Given the description of an element on the screen output the (x, y) to click on. 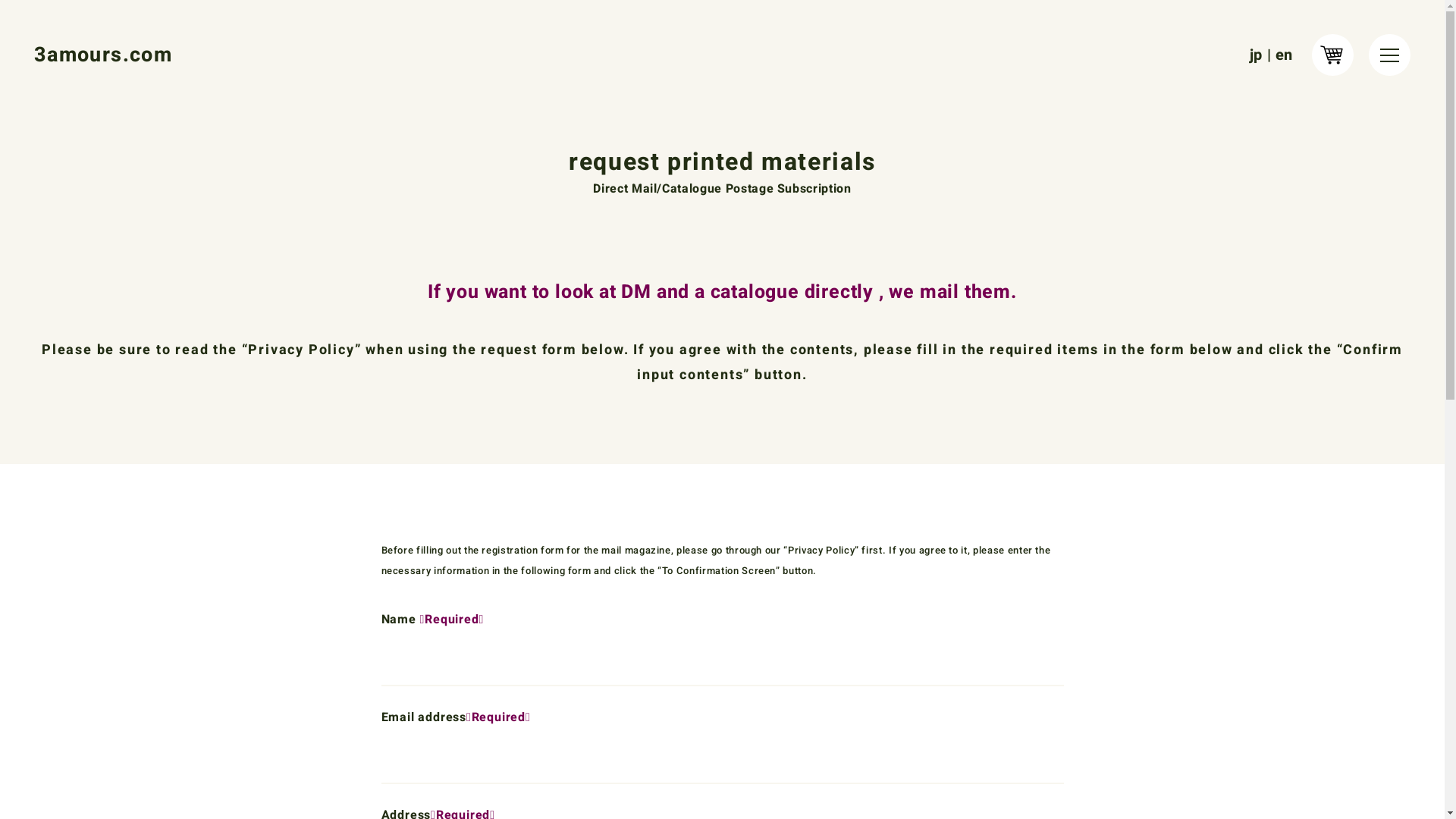
3amours.com Element type: text (103, 54)
en Element type: text (1283, 54)
jp Element type: text (1255, 54)
